Given the description of an element on the screen output the (x, y) to click on. 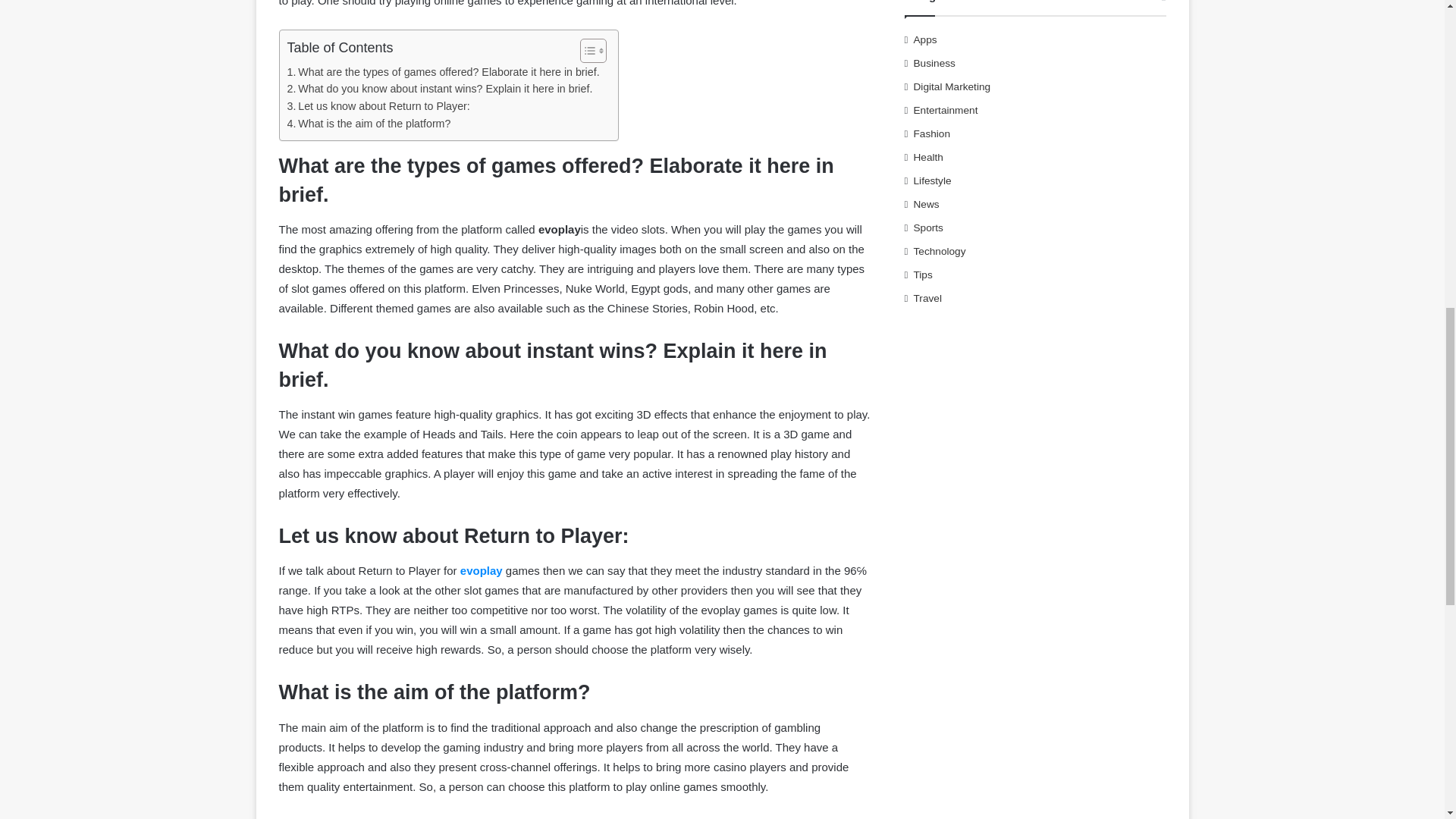
What is the aim of the platform? (367, 123)
Let us know about Return to Player: (377, 106)
Let us know about Return to Player: (377, 106)
evoplay (481, 570)
What is the aim of the platform? (367, 123)
